Given the description of an element on the screen output the (x, y) to click on. 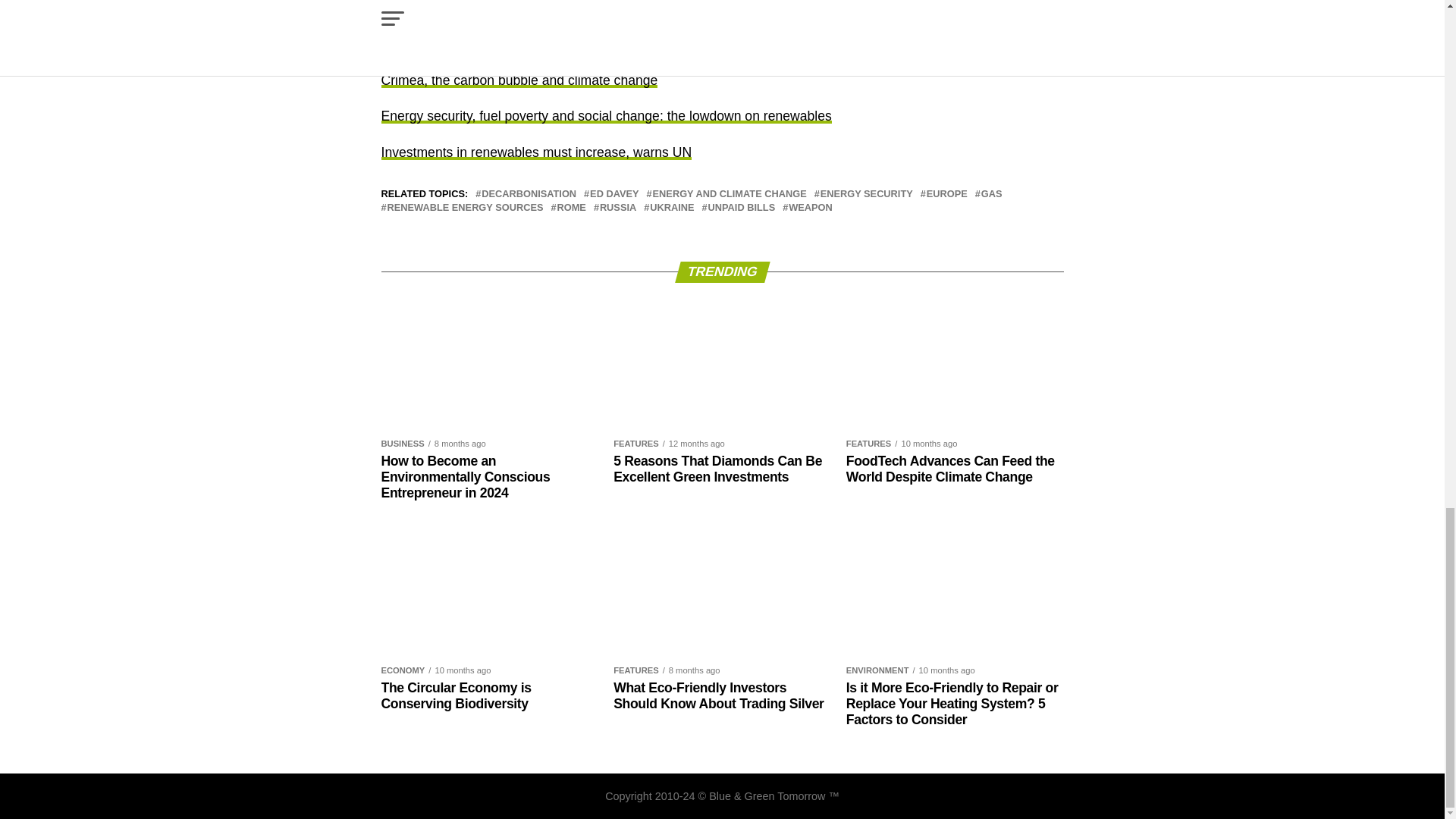
DECARBONISATION (528, 194)
Europe must look to renewables to solve Ukraine gas crisis (555, 8)
RUSSIA (617, 207)
GAS (992, 194)
ROME (570, 207)
ED DAVEY (614, 194)
EUROPE (947, 194)
RENEWABLE ENERGY SOURCES (465, 207)
Crimea, the carbon bubble and climate change (519, 79)
